Given the description of an element on the screen output the (x, y) to click on. 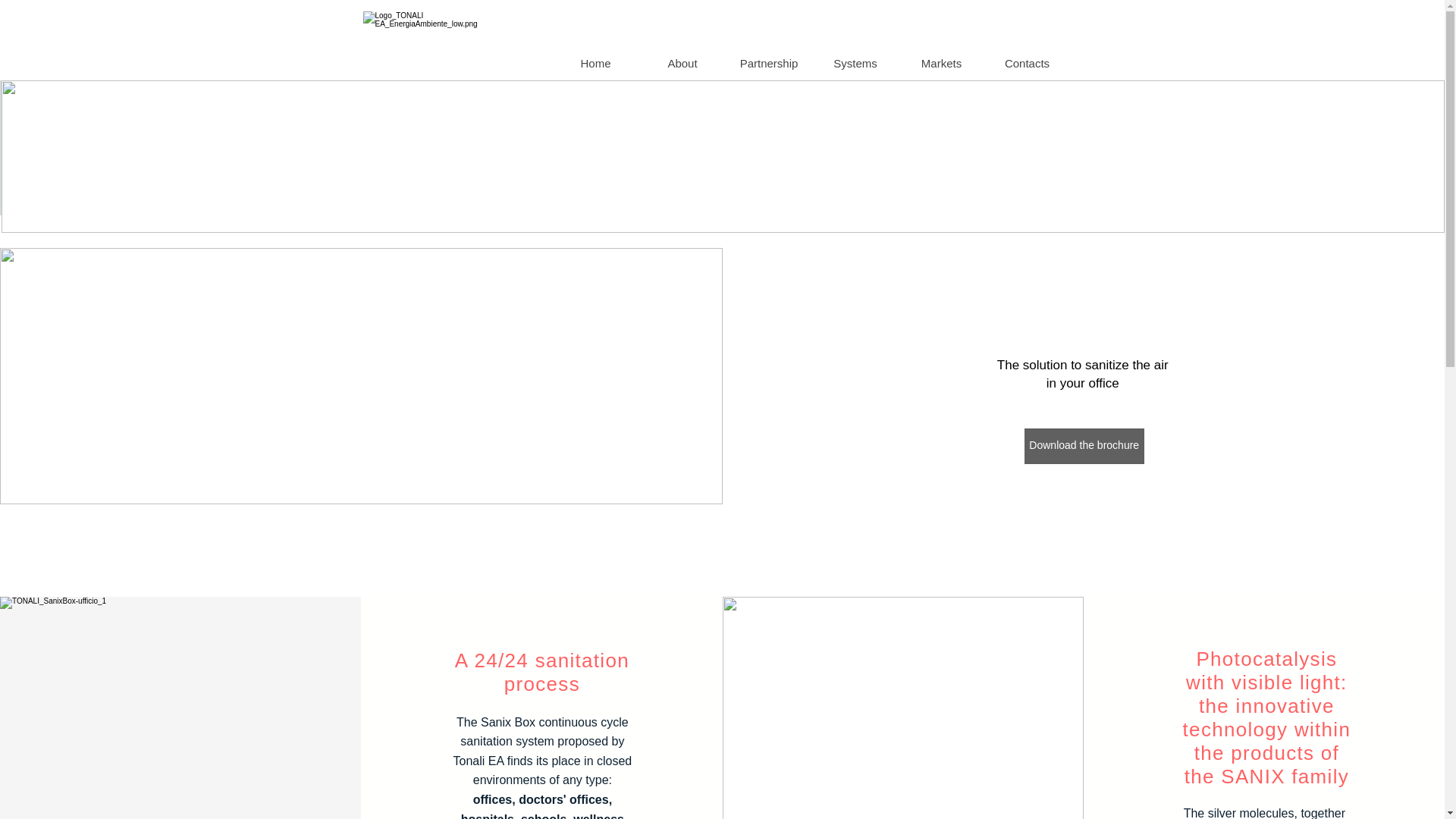
About (682, 63)
Markets (941, 63)
Partnership (767, 63)
Contacts (1027, 63)
Download the brochure (1084, 446)
Home (595, 63)
Systems (854, 63)
